Given the description of an element on the screen output the (x, y) to click on. 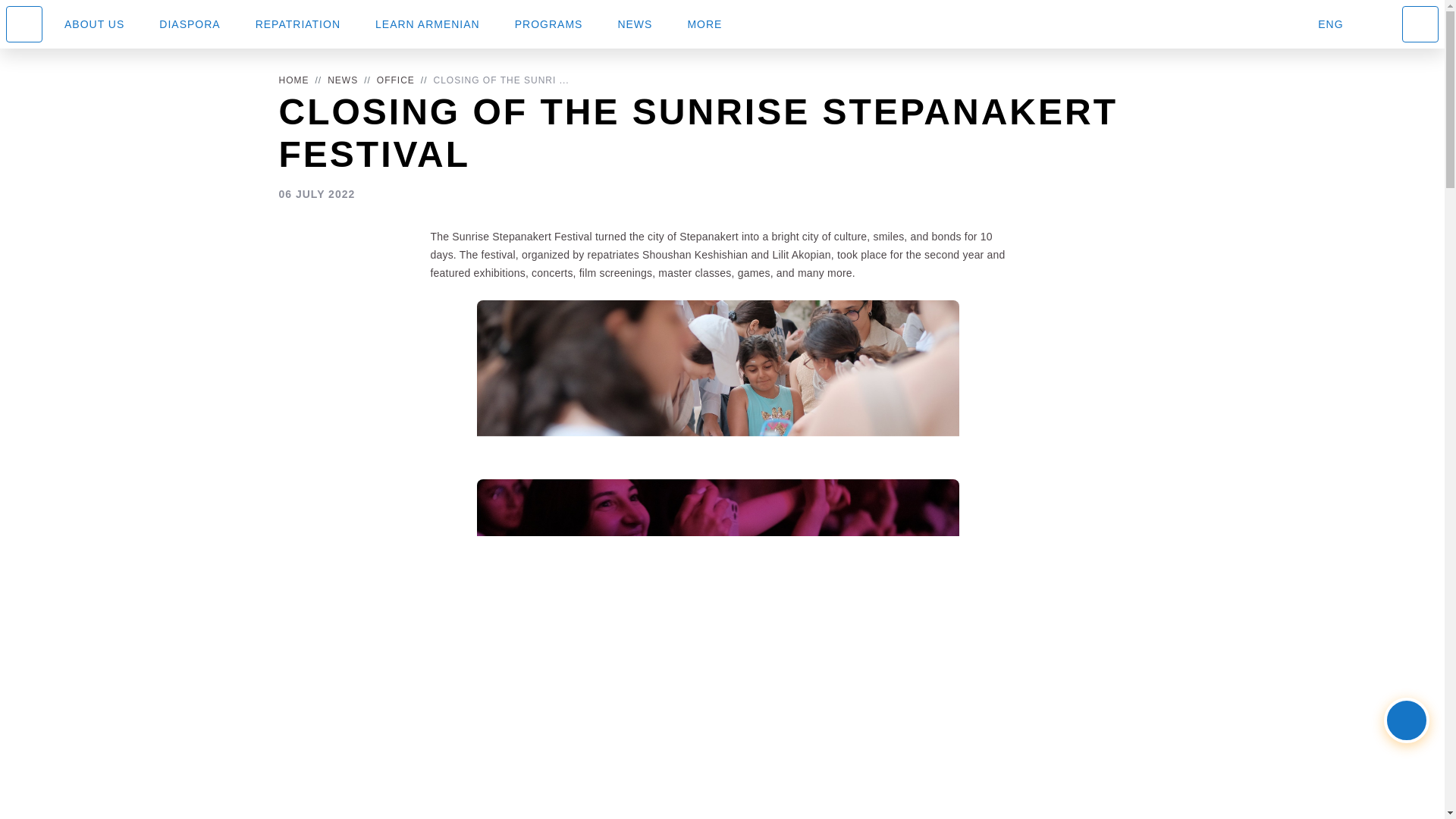
NEWS (342, 80)
LEARN ARMENIAN (427, 23)
Home (293, 80)
Closing of the Sunrise Stepanakert Festival (491, 80)
REPATRIATION (298, 23)
OFFICE (395, 80)
News (333, 80)
DIASPORA (189, 23)
ABOUT US (93, 23)
PROGRAMS (548, 23)
